Given the description of an element on the screen output the (x, y) to click on. 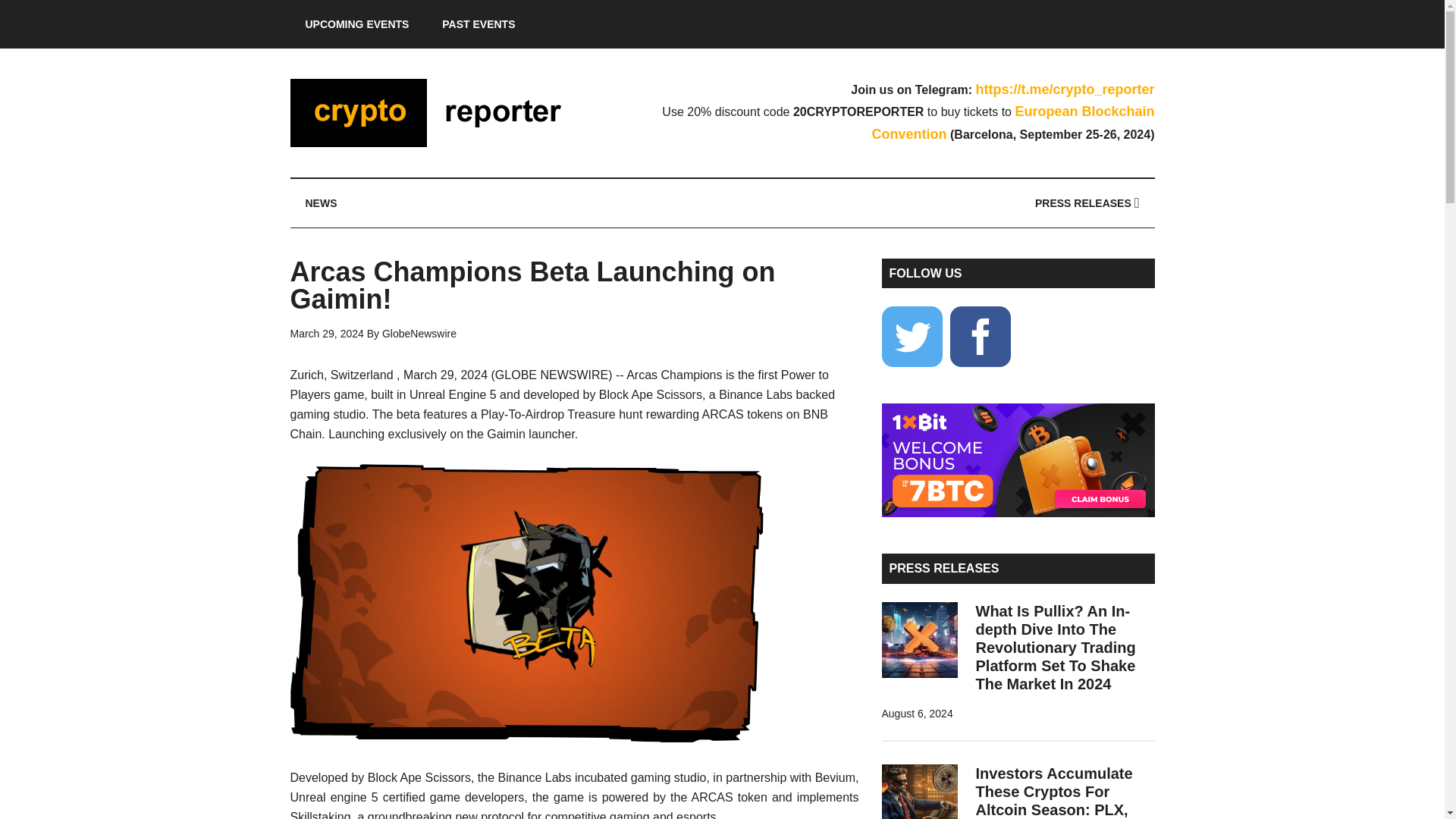
European Blockchain Convention (1013, 122)
UPCOMING EVENTS (356, 24)
PAST EVENTS (477, 24)
NEWS (320, 203)
Crypto Reporter (433, 112)
